Given the description of an element on the screen output the (x, y) to click on. 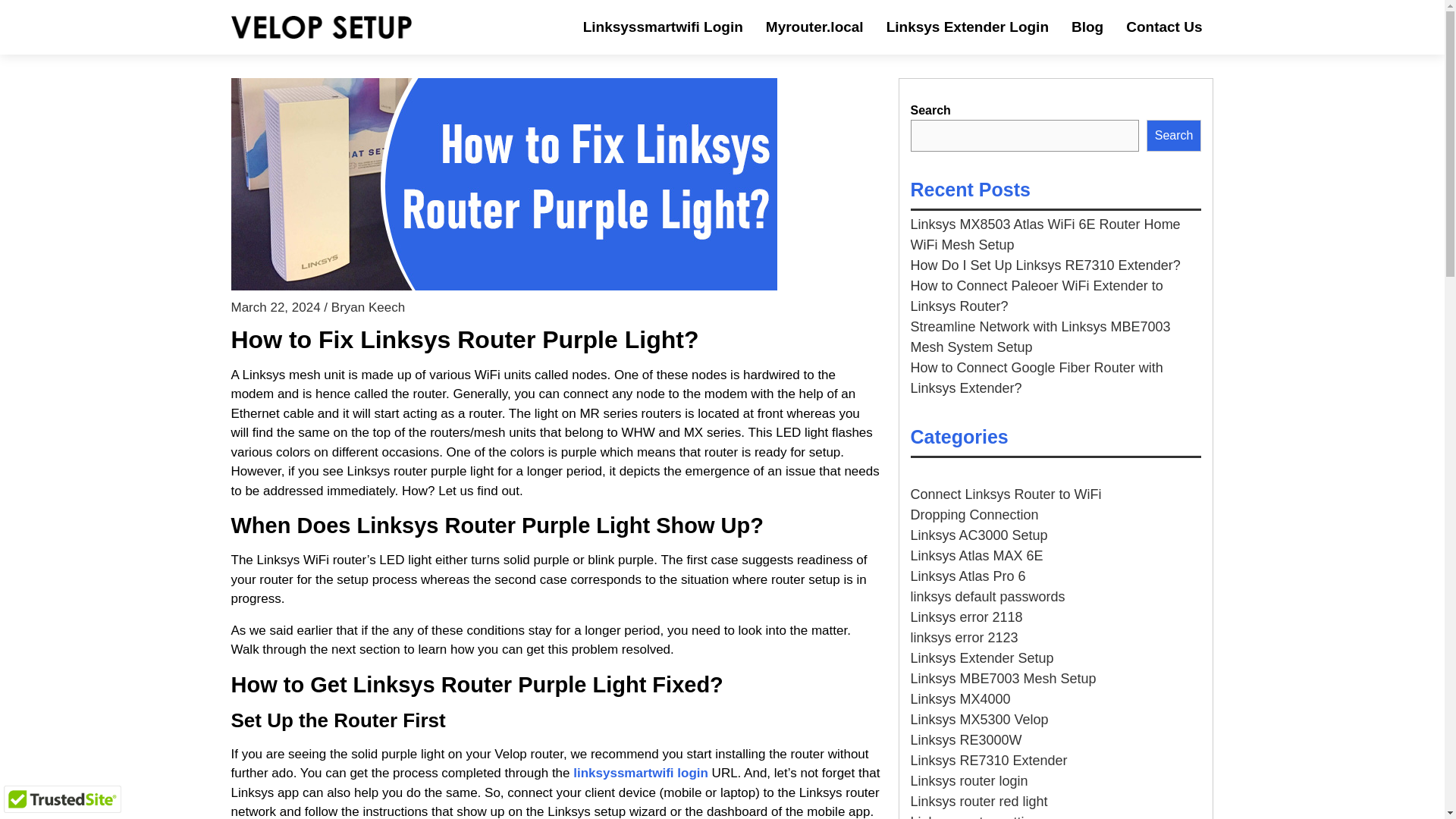
Linksyssmartwifi Login (663, 27)
Myrouter.local (814, 27)
Contact Us (1163, 27)
Connect Linksys Router to WiFi (1005, 494)
Opens a widget where you can chat to one of our agents (1386, 792)
Linksys Atlas Pro 6 (967, 575)
Streamline Network with Linksys MBE7003 Mesh System Setup (1040, 336)
linksyssmartwifi login (640, 772)
Linksys router login (968, 780)
Linksys MBE7003 Mesh Setup (1003, 678)
Linksys router red light (978, 801)
Linksys RE3000W (966, 739)
Blog (1087, 27)
Linksys MX8503 Atlas WiFi 6E Router Home WiFi Mesh Setup (1044, 234)
Linksys AC3000 Setup (978, 534)
